Given the description of an element on the screen output the (x, y) to click on. 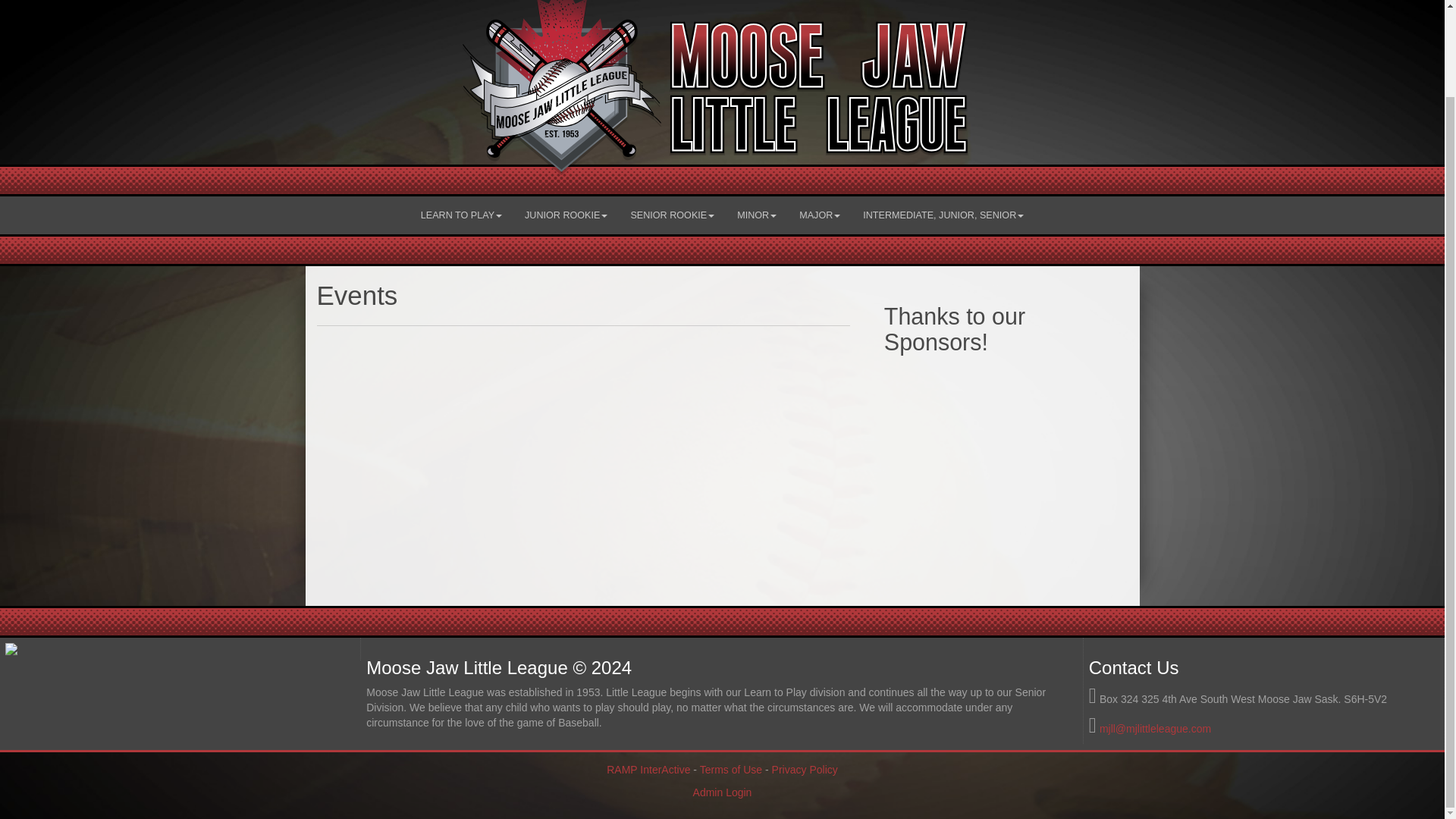
LEARN TO PLAY (461, 215)
